Given the description of an element on the screen output the (x, y) to click on. 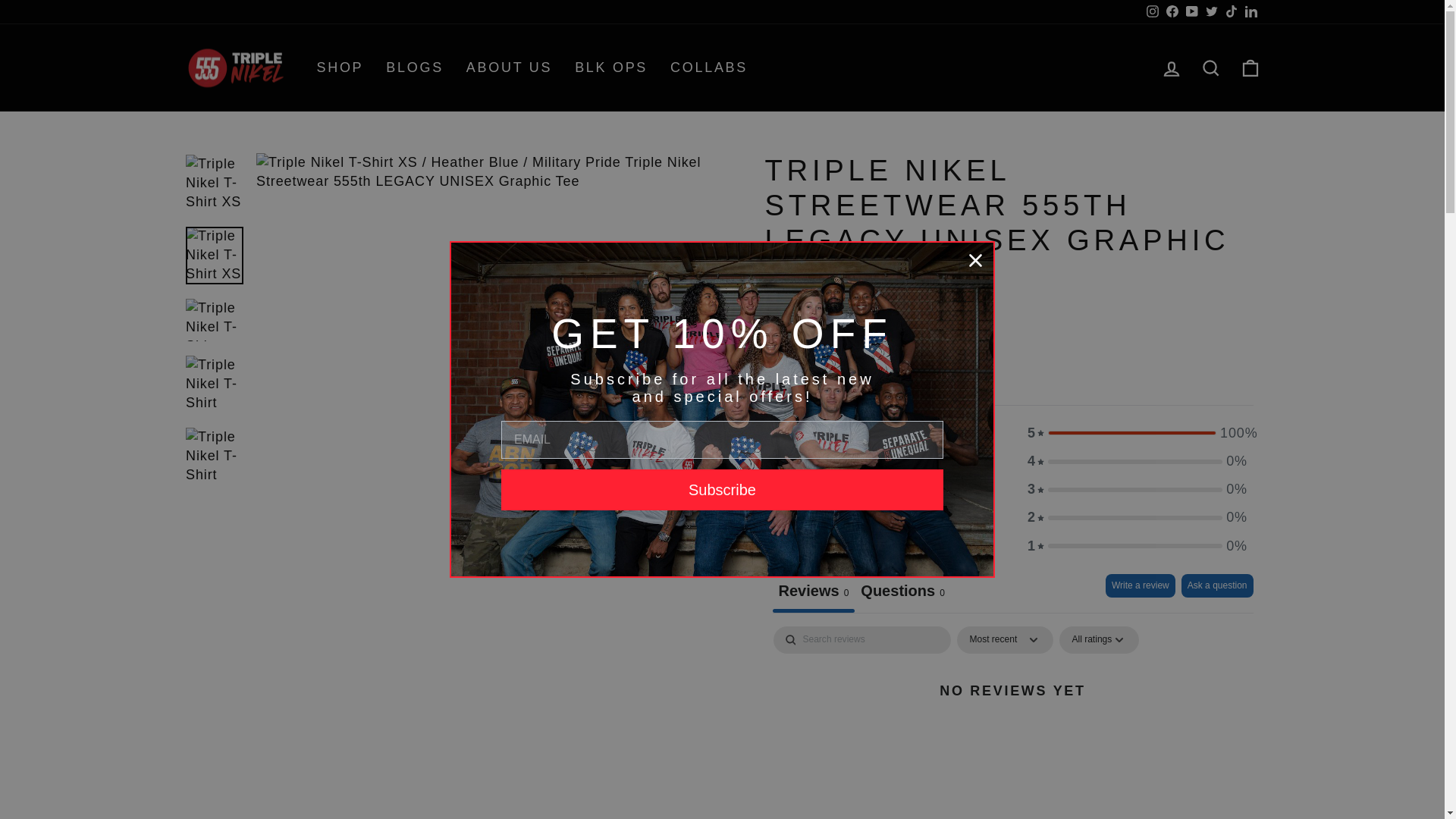
Triple Nikel on LinkedIn (1250, 11)
Triple Nikel on TikTok (1230, 11)
Triple Nikel on Twitter (1211, 11)
Triple Nikel on Instagram (1151, 11)
Triple Nikel on Facebook (1170, 11)
Triple Nikel on YouTube (1190, 11)
